Given the description of an element on the screen output the (x, y) to click on. 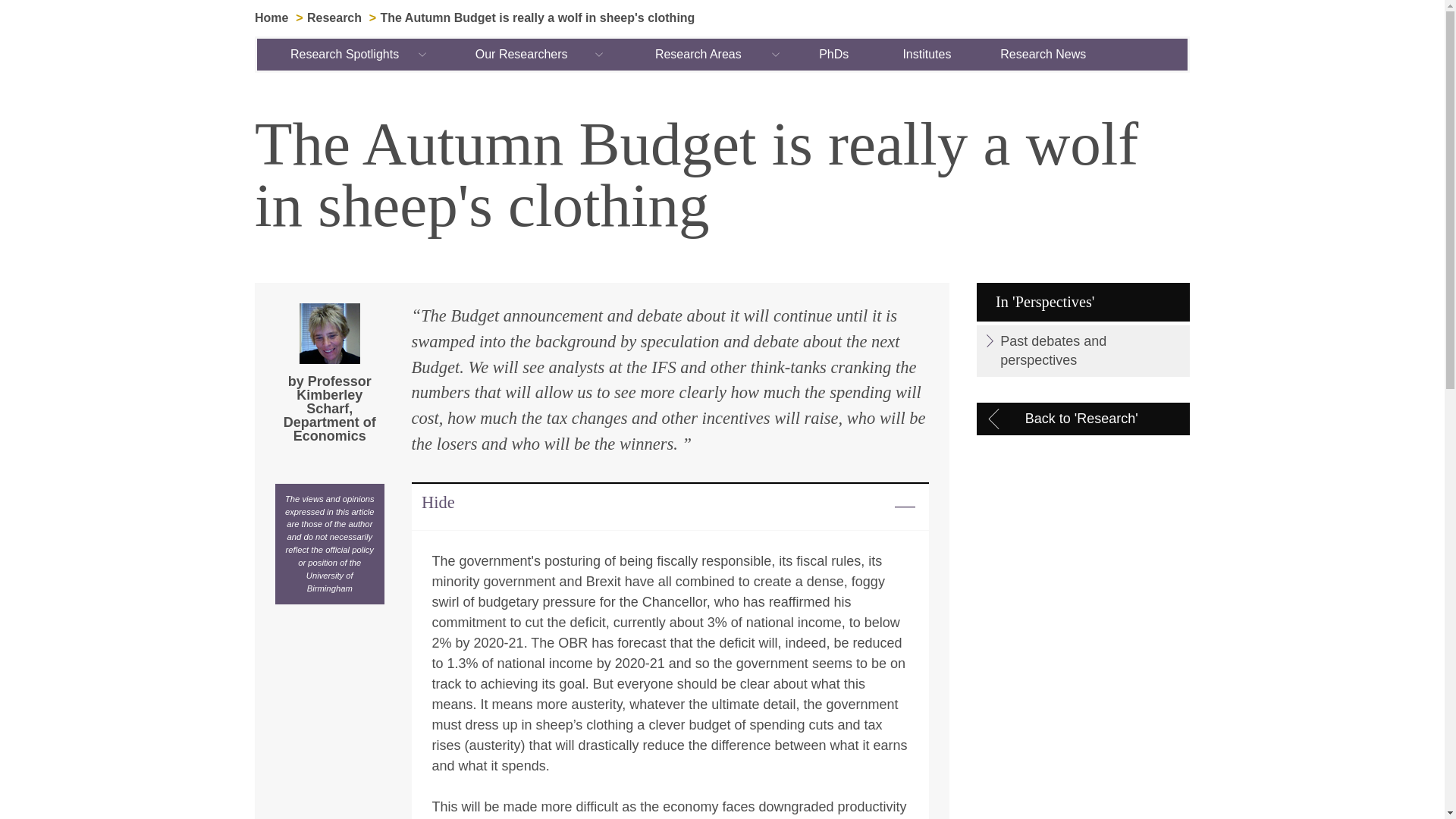
Research Spotlights (345, 54)
Home (271, 18)
Our Researchers (521, 54)
Research Areas (698, 54)
Research (334, 18)
The Autumn Budget is really a wolf in sheep's clothing (537, 18)
